Given the description of an element on the screen output the (x, y) to click on. 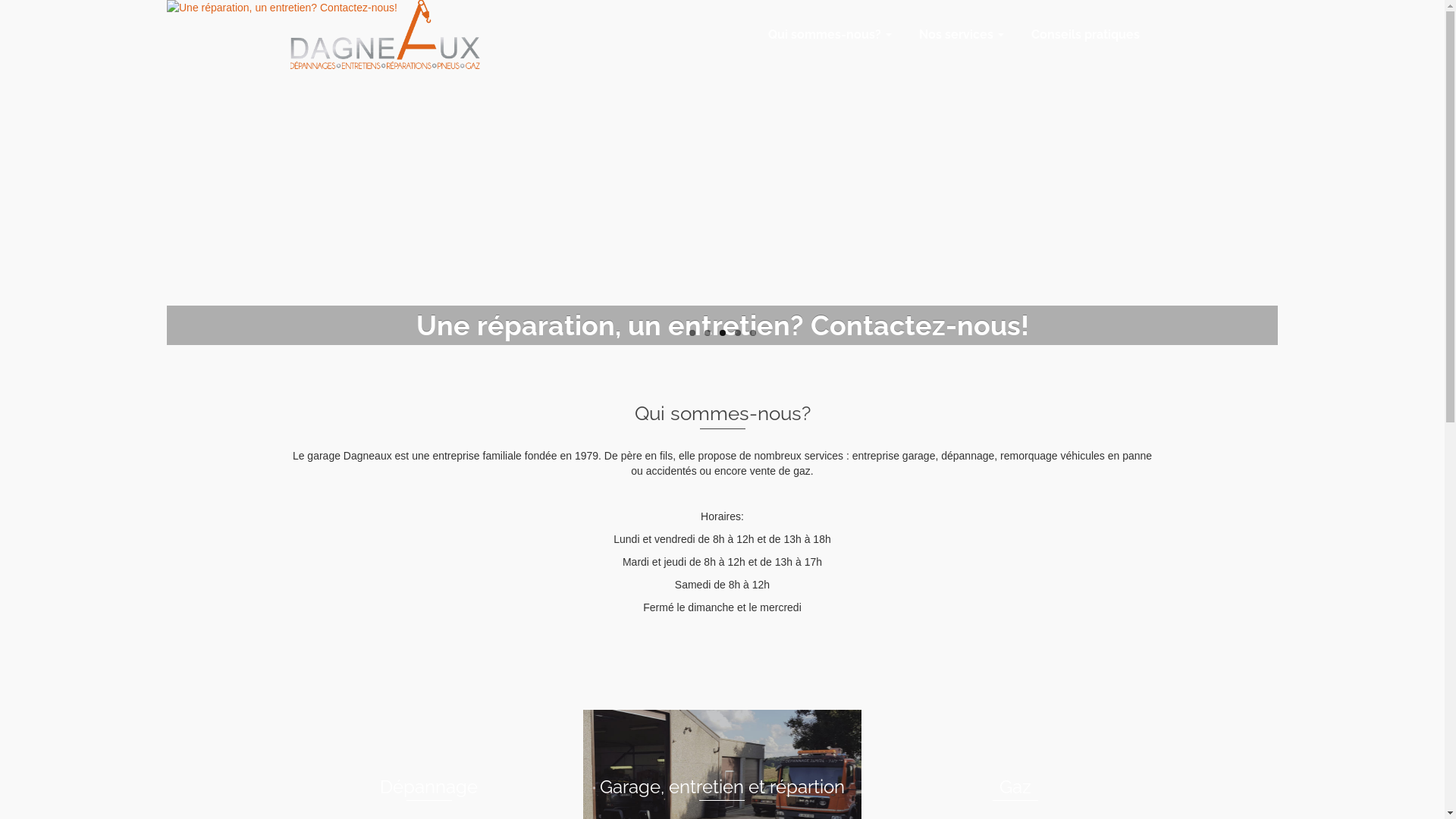
Qui sommes-nous? Element type: text (827, 34)
5 Element type: text (752, 332)
4 Element type: text (737, 332)
Conseils pratiques Element type: text (1085, 34)
Nos services Element type: text (959, 34)
3 Element type: text (721, 332)
1 Element type: text (691, 332)
2 Element type: text (706, 332)
